Given the description of an element on the screen output the (x, y) to click on. 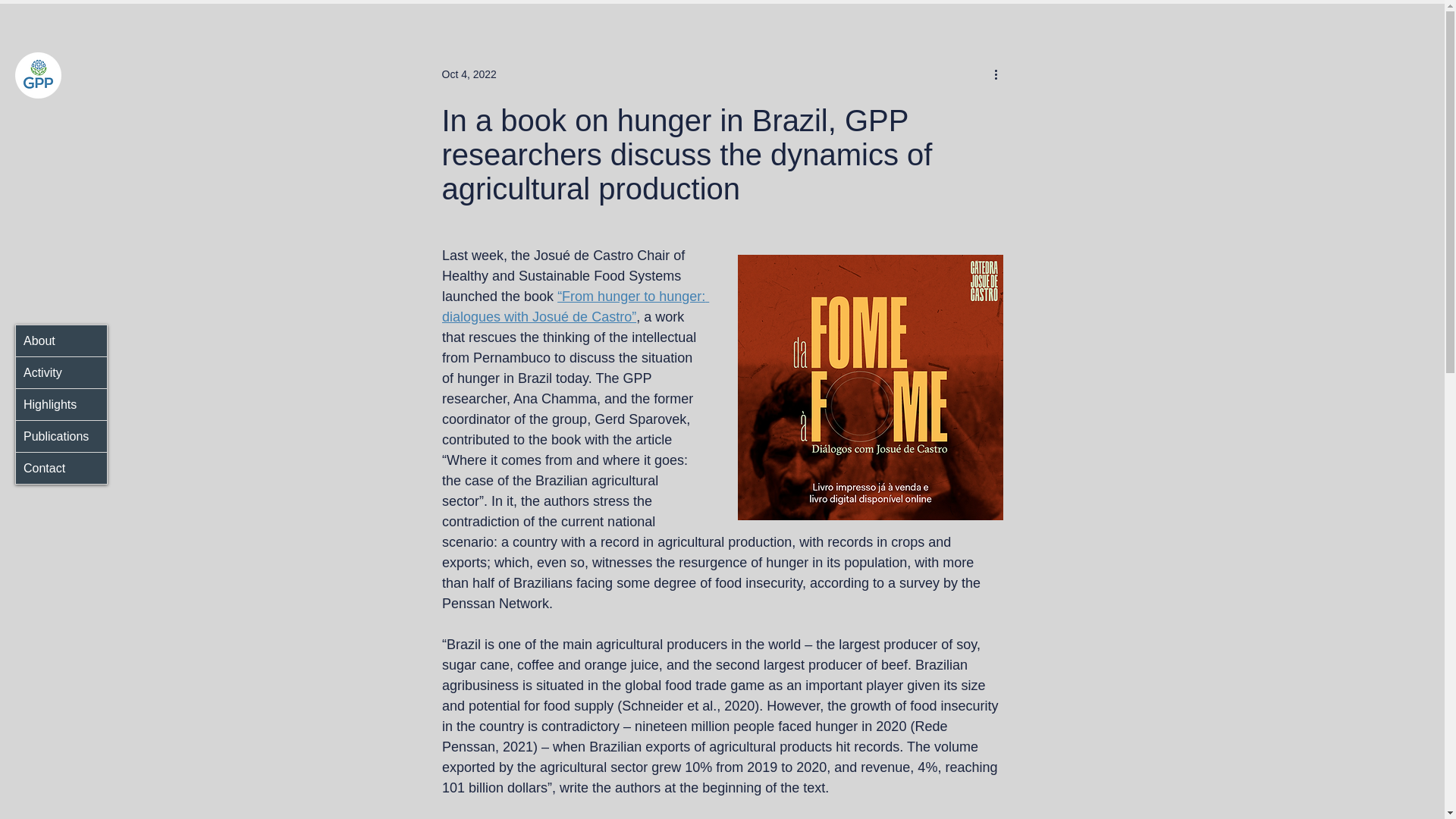
Highlights (61, 403)
Publications (61, 435)
Contact (61, 467)
Oct 4, 2022 (468, 73)
About (61, 339)
